Given the description of an element on the screen output the (x, y) to click on. 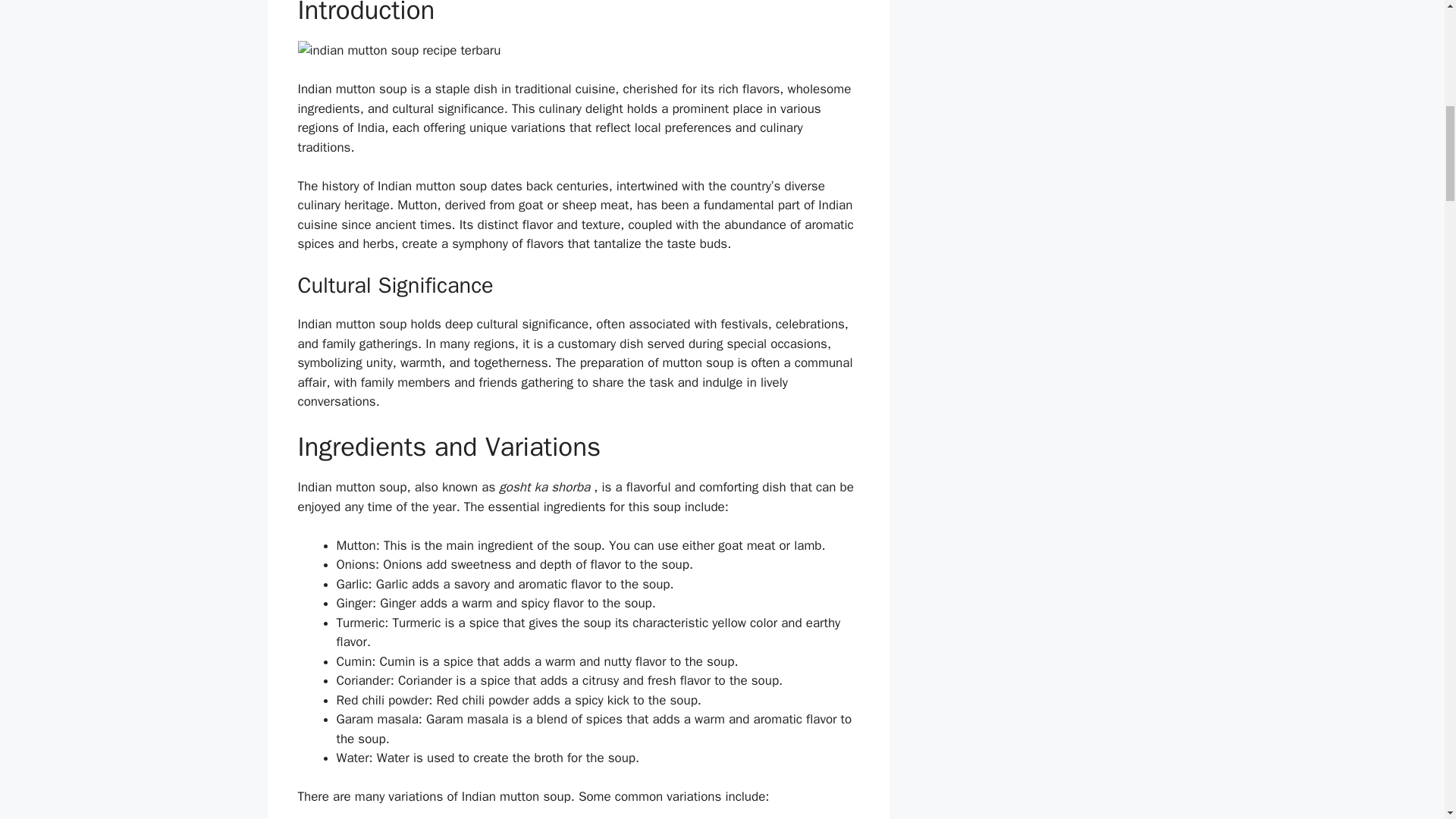
soup mutton (578, 50)
Scroll back to top (1406, 720)
